Given the description of an element on the screen output the (x, y) to click on. 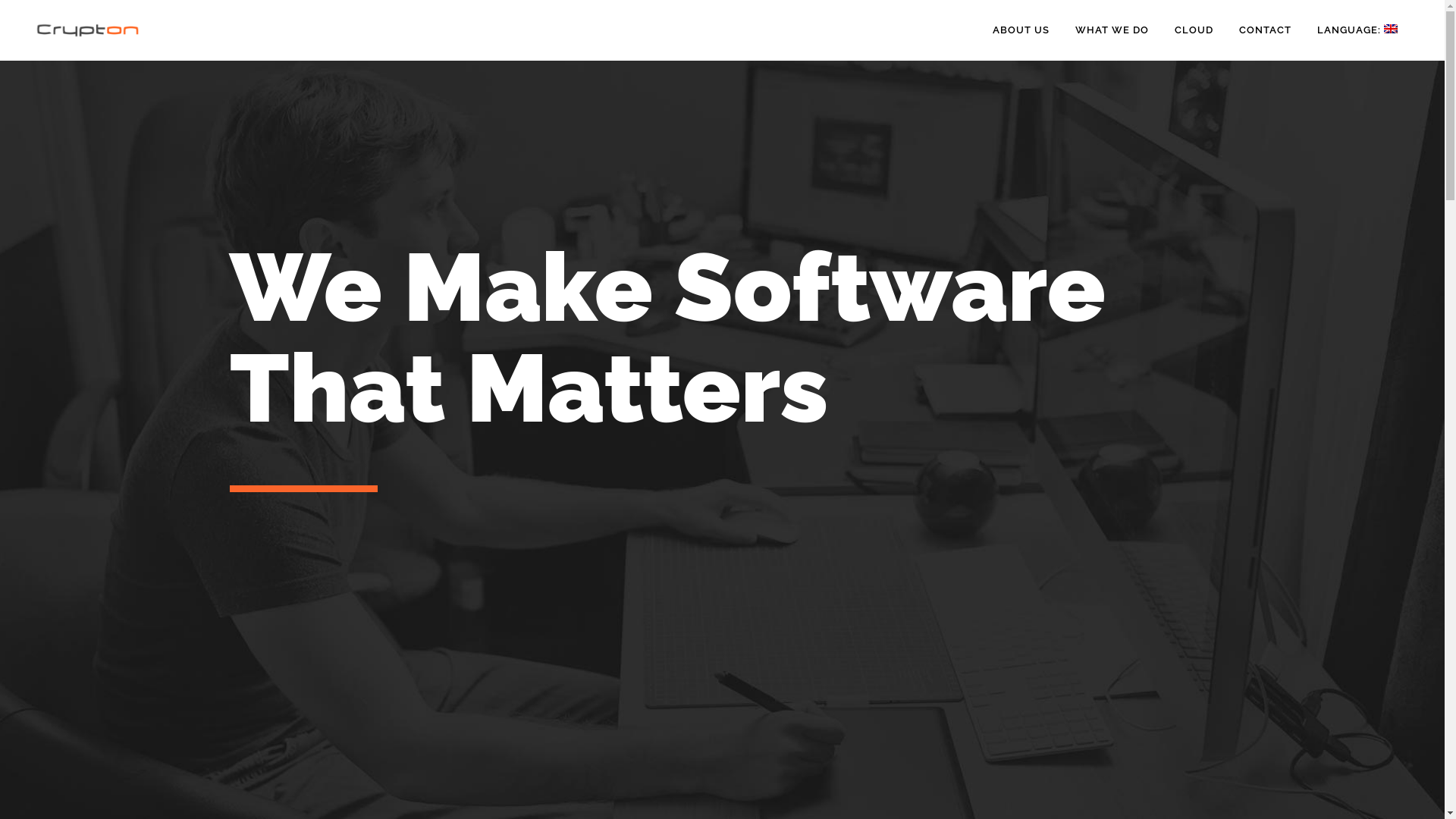
CONTACT Element type: text (1265, 30)
ABOUT US Element type: text (1020, 30)
LANGUAGE:  Element type: text (1357, 30)
CLOUD Element type: text (1193, 30)
WHAT WE DO Element type: text (1111, 30)
